Given the description of an element on the screen output the (x, y) to click on. 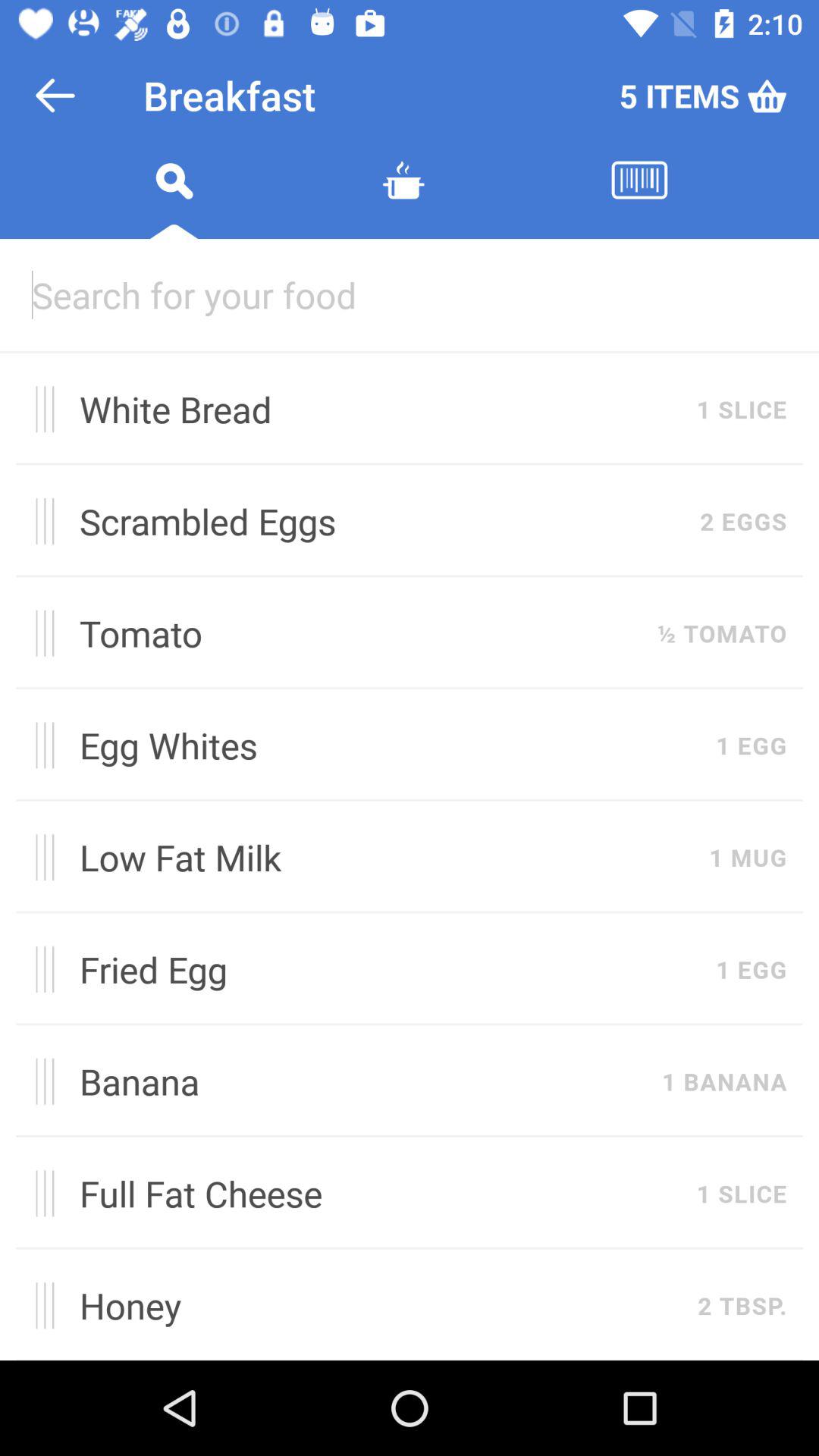
bar code scan (639, 198)
